Given the description of an element on the screen output the (x, y) to click on. 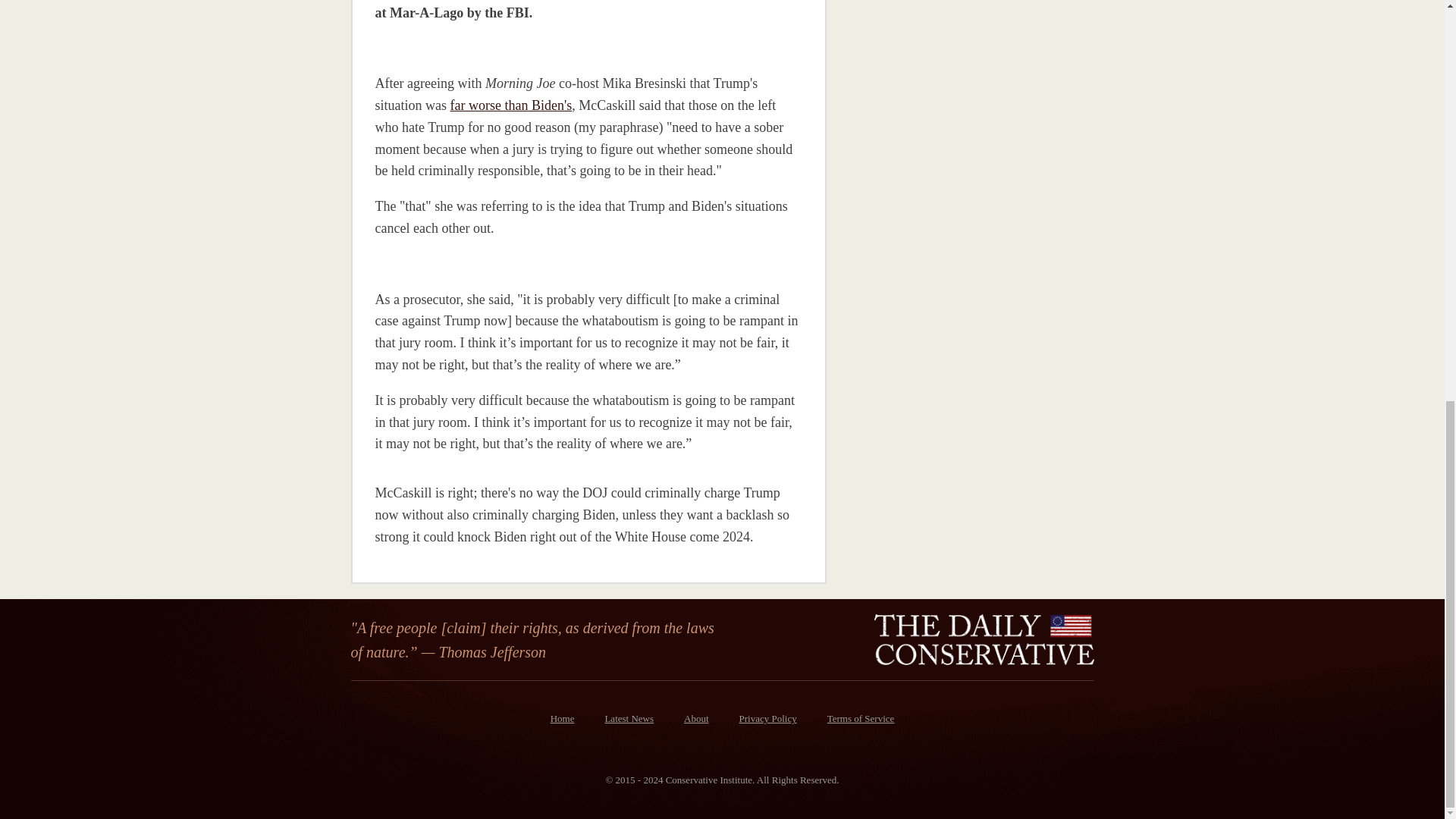
Privacy Policy (767, 719)
Latest News (628, 719)
far worse than Biden's (510, 105)
About (695, 719)
Terms of Service (861, 719)
Home (562, 719)
